Given the description of an element on the screen output the (x, y) to click on. 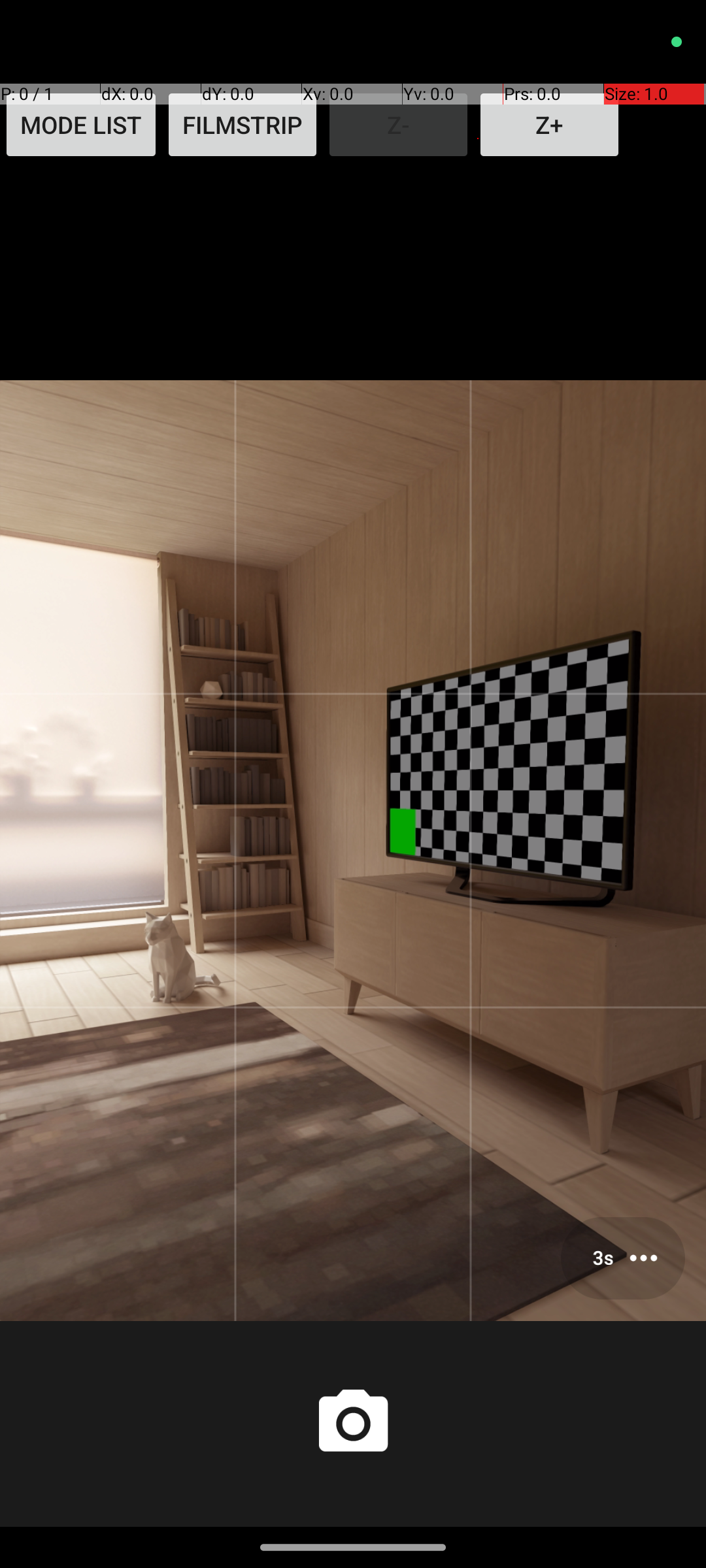
Options Element type: android.widget.LinearLayout (622, 1258)
